Given the description of an element on the screen output the (x, y) to click on. 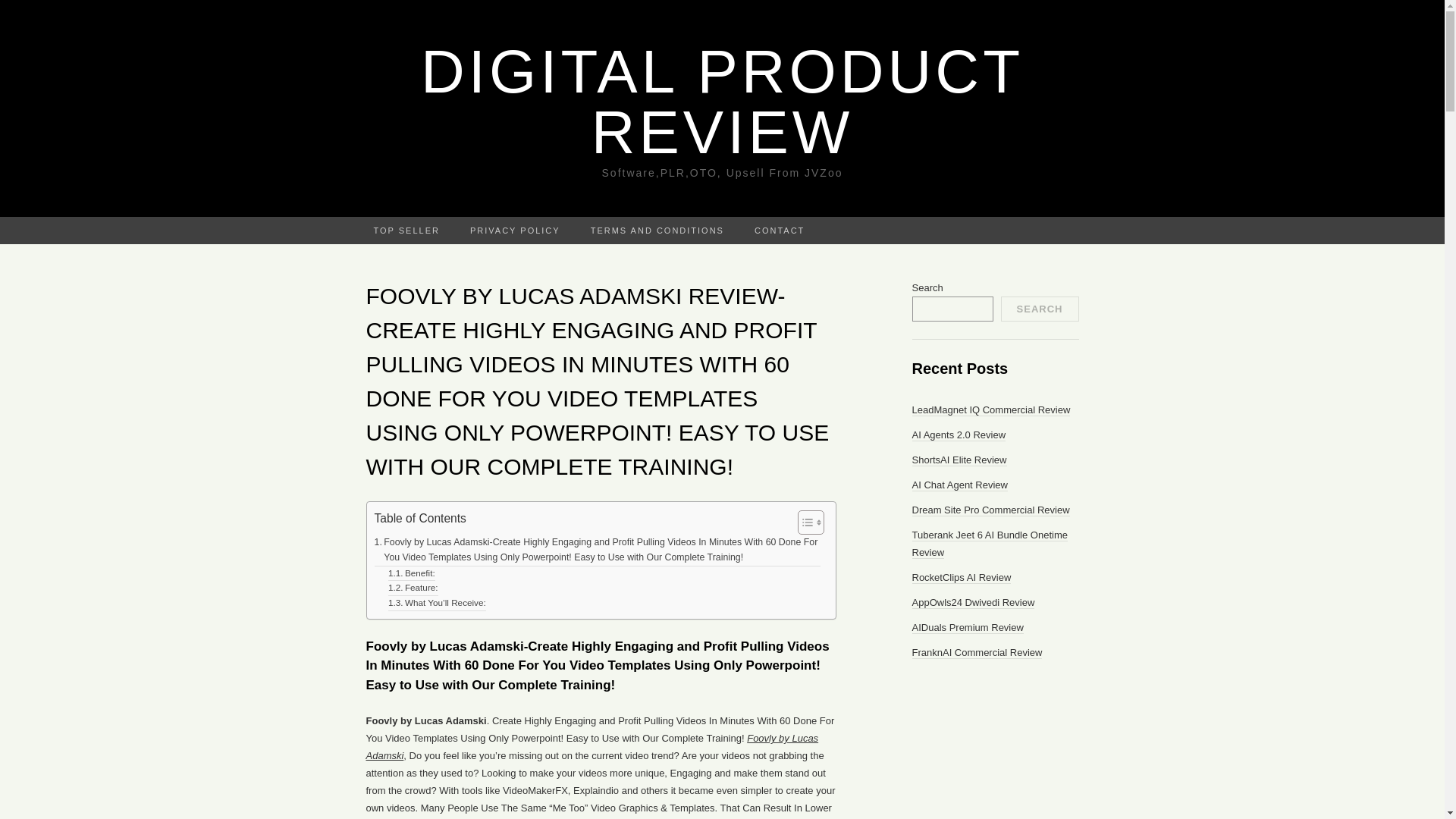
PRIVACY POLICY (514, 230)
Feature: (413, 588)
TERMS AND CONDITIONS (657, 230)
CONTACT (779, 230)
DIGITAL PRODUCT REVIEW (721, 101)
Feature: (413, 588)
Benefit: (411, 572)
Benefit: (411, 572)
